Given the description of an element on the screen output the (x, y) to click on. 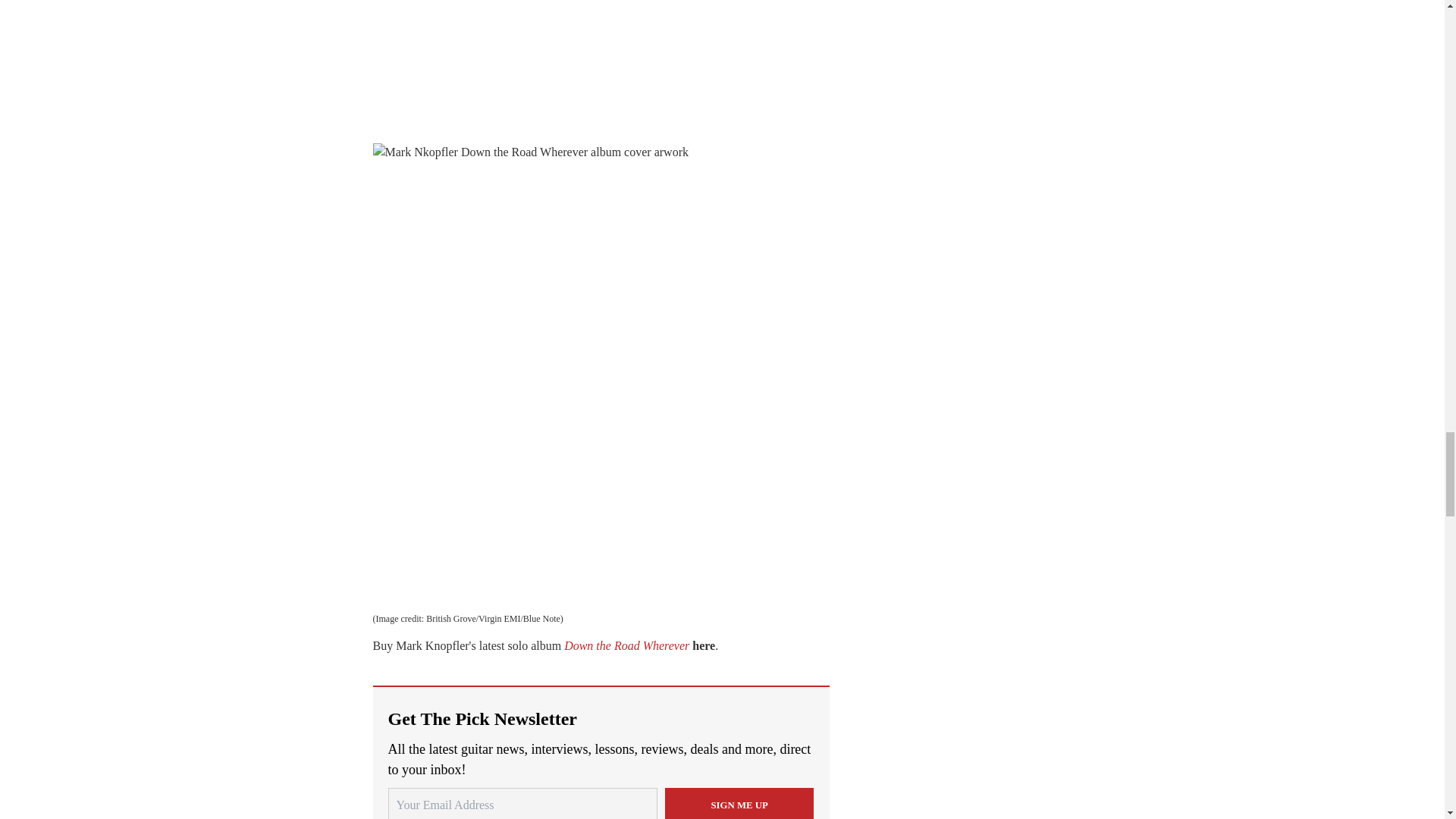
Sign me up (739, 803)
Sign me up (739, 803)
Down the Road Wherever (626, 645)
